Given the description of an element on the screen output the (x, y) to click on. 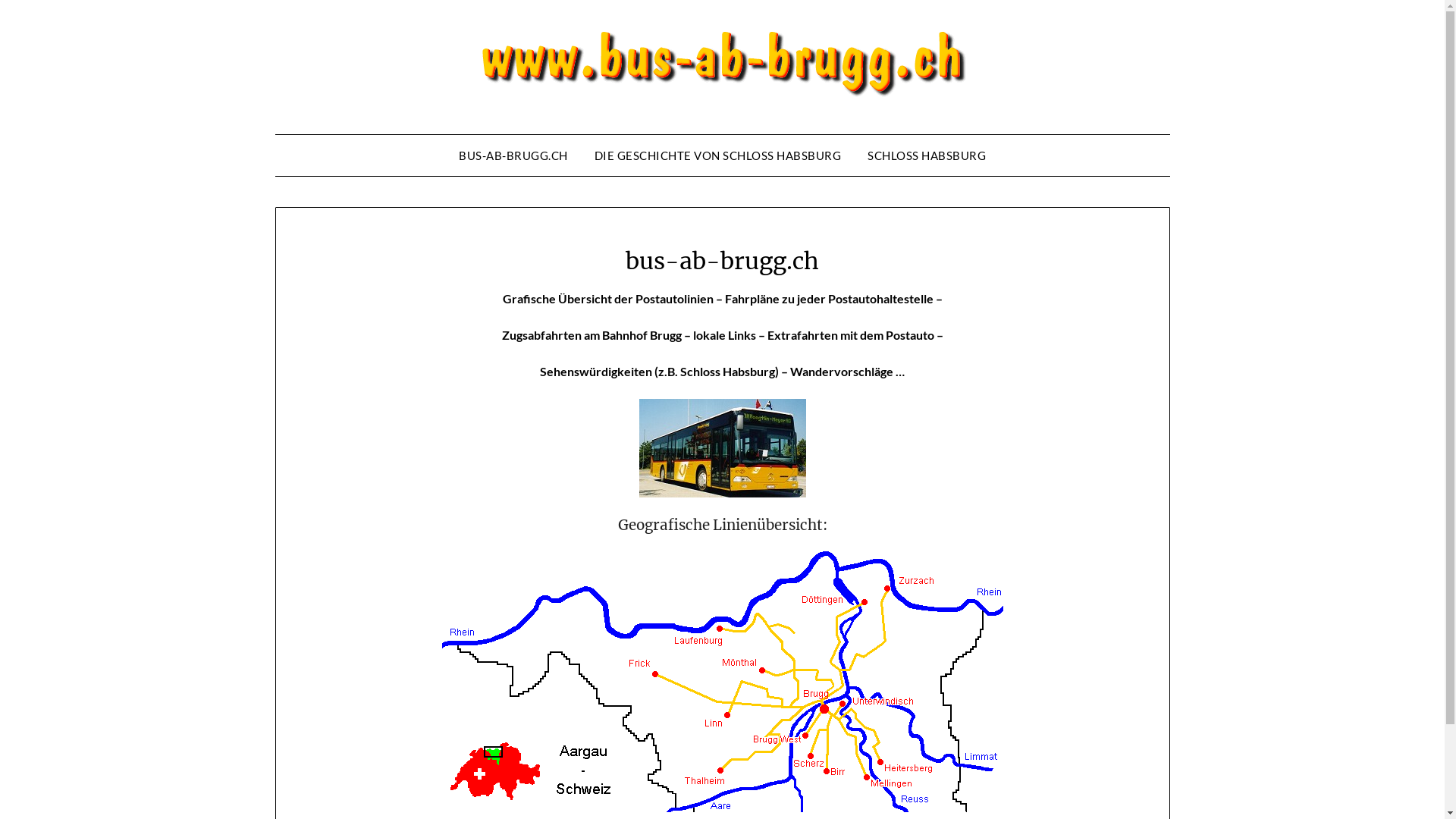
BUS-AB-BRUGG.CH Element type: text (513, 154)
SCHLOSS HABSBURG Element type: text (926, 154)
DIE GESCHICHTE VON SCHLOSS HABSBURG Element type: text (717, 154)
